Given the description of an element on the screen output the (x, y) to click on. 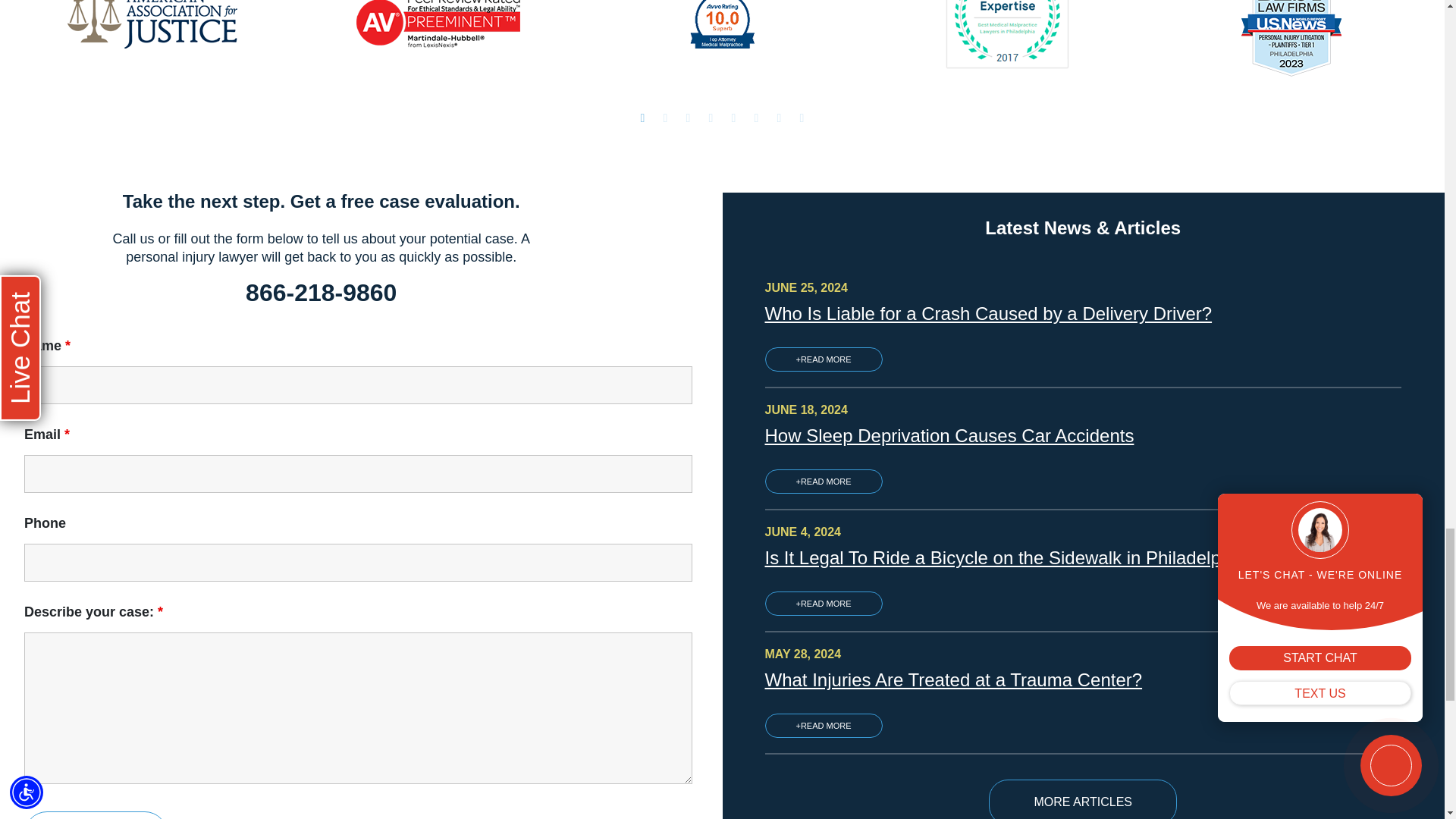
8 (801, 118)
1 (642, 118)
2 (665, 118)
5 (733, 118)
7 (779, 118)
4 (711, 118)
6 (756, 118)
3 (688, 118)
Submit (95, 815)
